Given the description of an element on the screen output the (x, y) to click on. 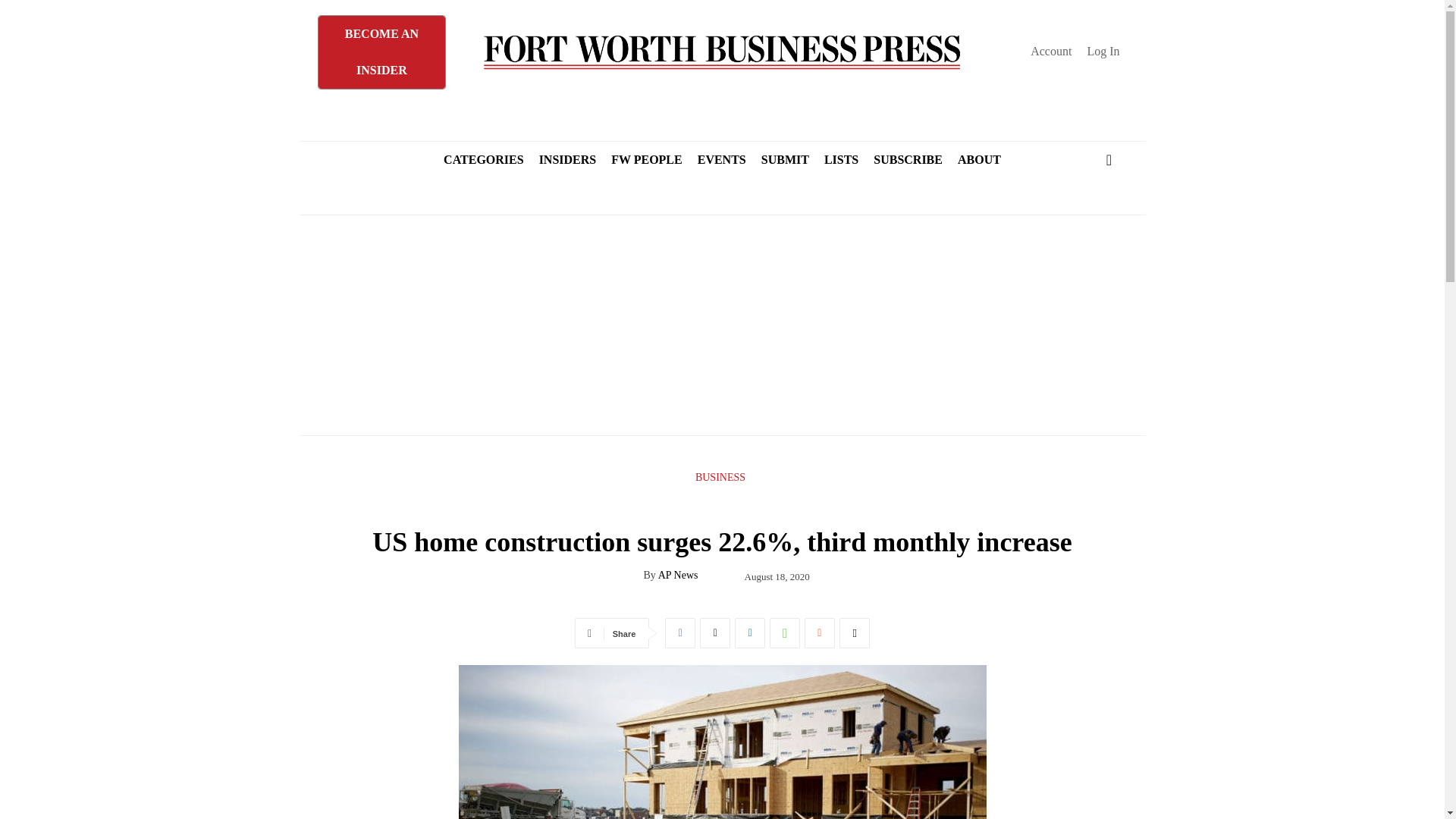
WhatsApp (784, 633)
Twitter (715, 633)
Facebook (680, 633)
Linkedin (750, 633)
